Given the description of an element on the screen output the (x, y) to click on. 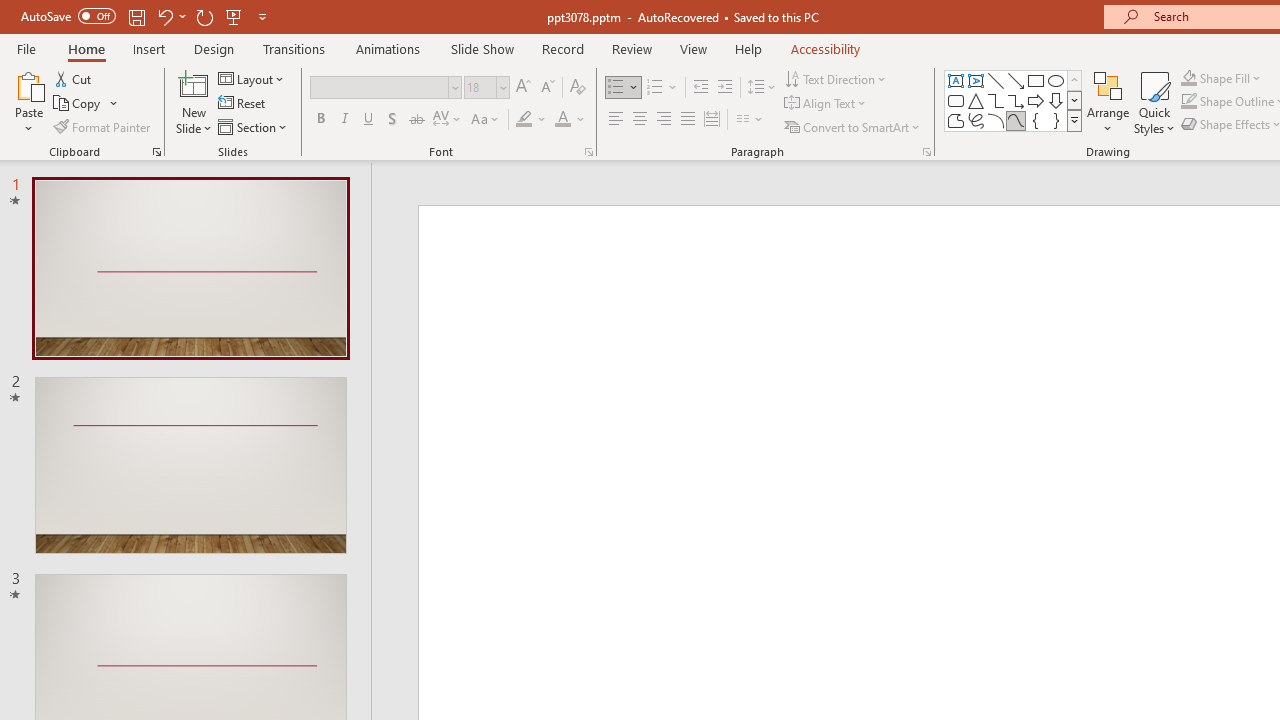
Section (254, 126)
Columns (750, 119)
Increase Font Size (522, 87)
Change Case (486, 119)
Connector: Elbow (995, 100)
Arrow: Down (1055, 100)
Format Painter (103, 126)
Shape Fill Dark Green, Accent 2 (1188, 78)
